Given the description of an element on the screen output the (x, y) to click on. 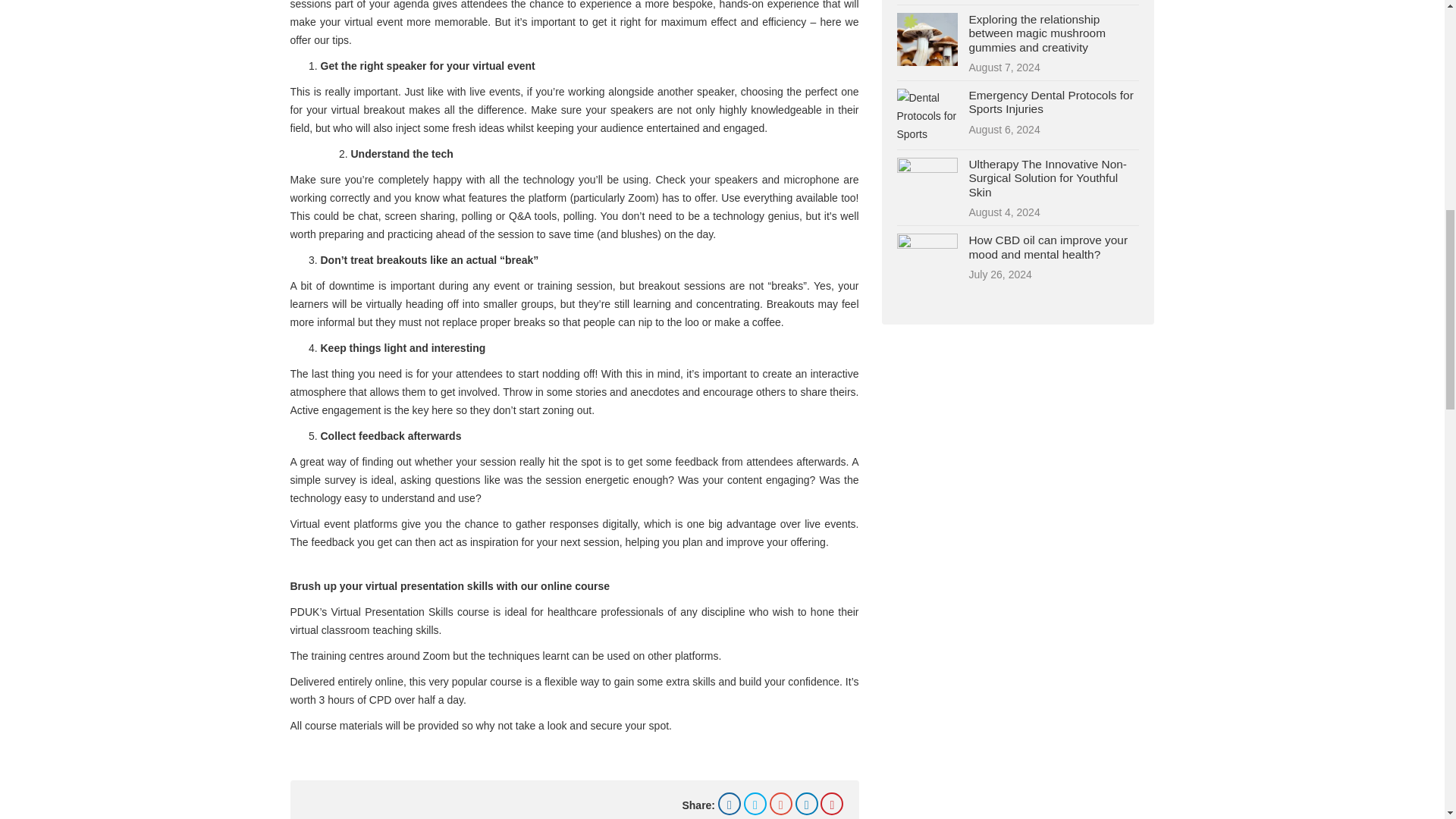
Google Plus (781, 803)
Pinterest (832, 803)
Virtual Presentation Skills course (408, 612)
Twitter (755, 803)
Linkedin (806, 803)
Facebook (729, 803)
